Given the description of an element on the screen output the (x, y) to click on. 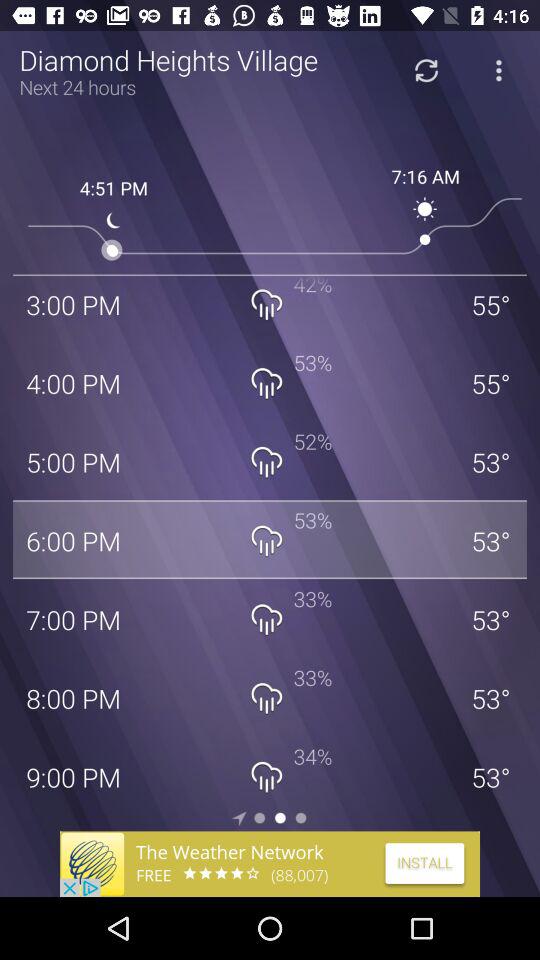
refresh (426, 70)
